Given the description of an element on the screen output the (x, y) to click on. 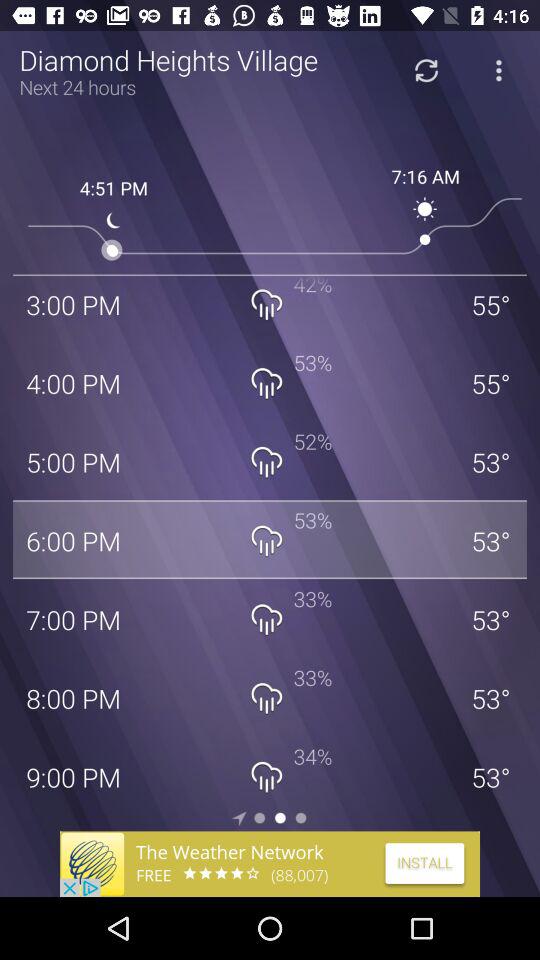
refresh (426, 70)
